Given the description of an element on the screen output the (x, y) to click on. 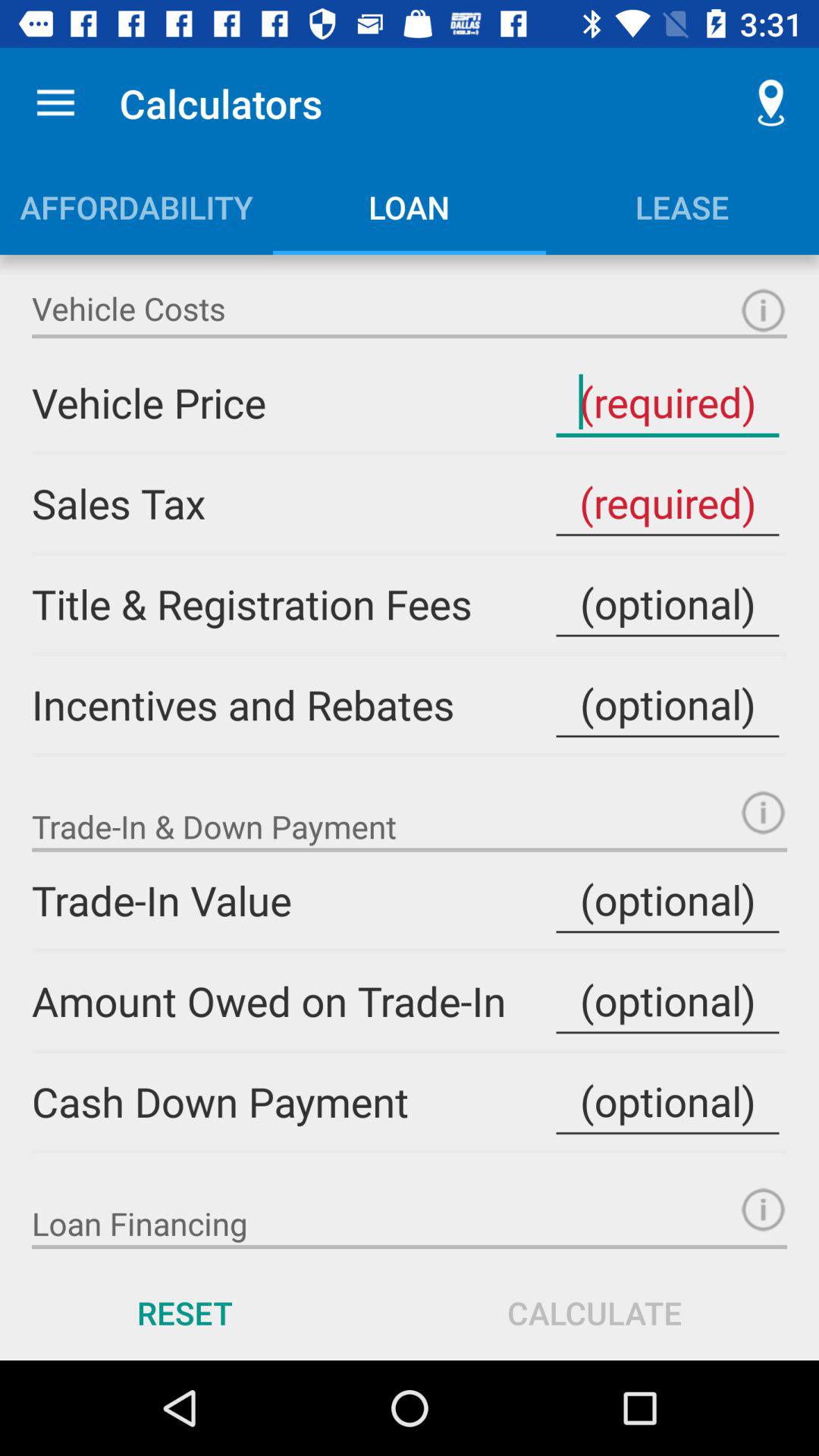
required section in sales tax (667, 503)
